Given the description of an element on the screen output the (x, y) to click on. 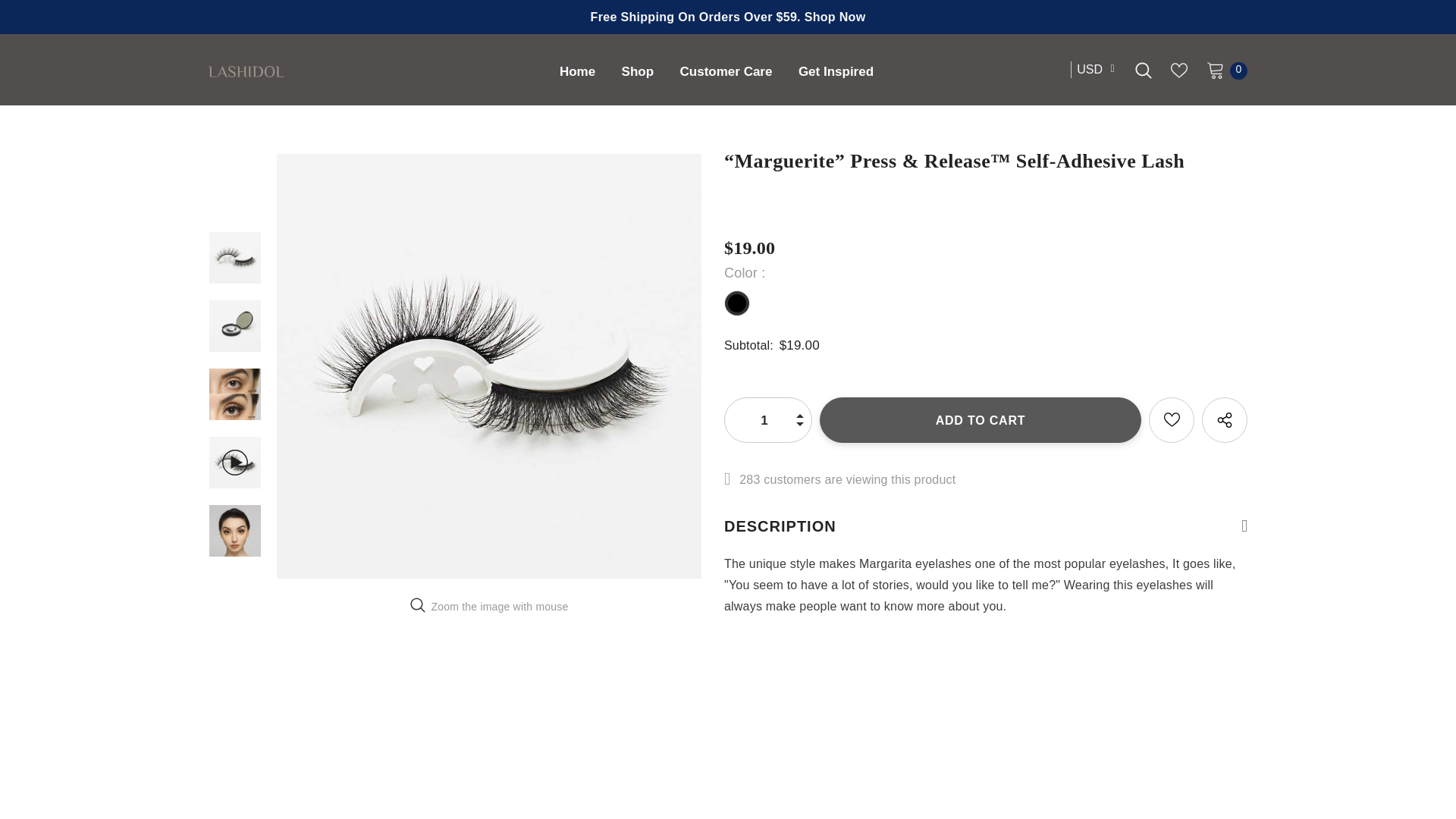
My Wish Lists (1179, 70)
Cart Icon (1215, 69)
1 (764, 419)
Search Icon (1143, 70)
Shop Now (835, 17)
Get Inspired (835, 72)
Customer Care (726, 72)
Logo (335, 70)
Add to cart (980, 420)
0 (1215, 69)
